Given the description of an element on the screen output the (x, y) to click on. 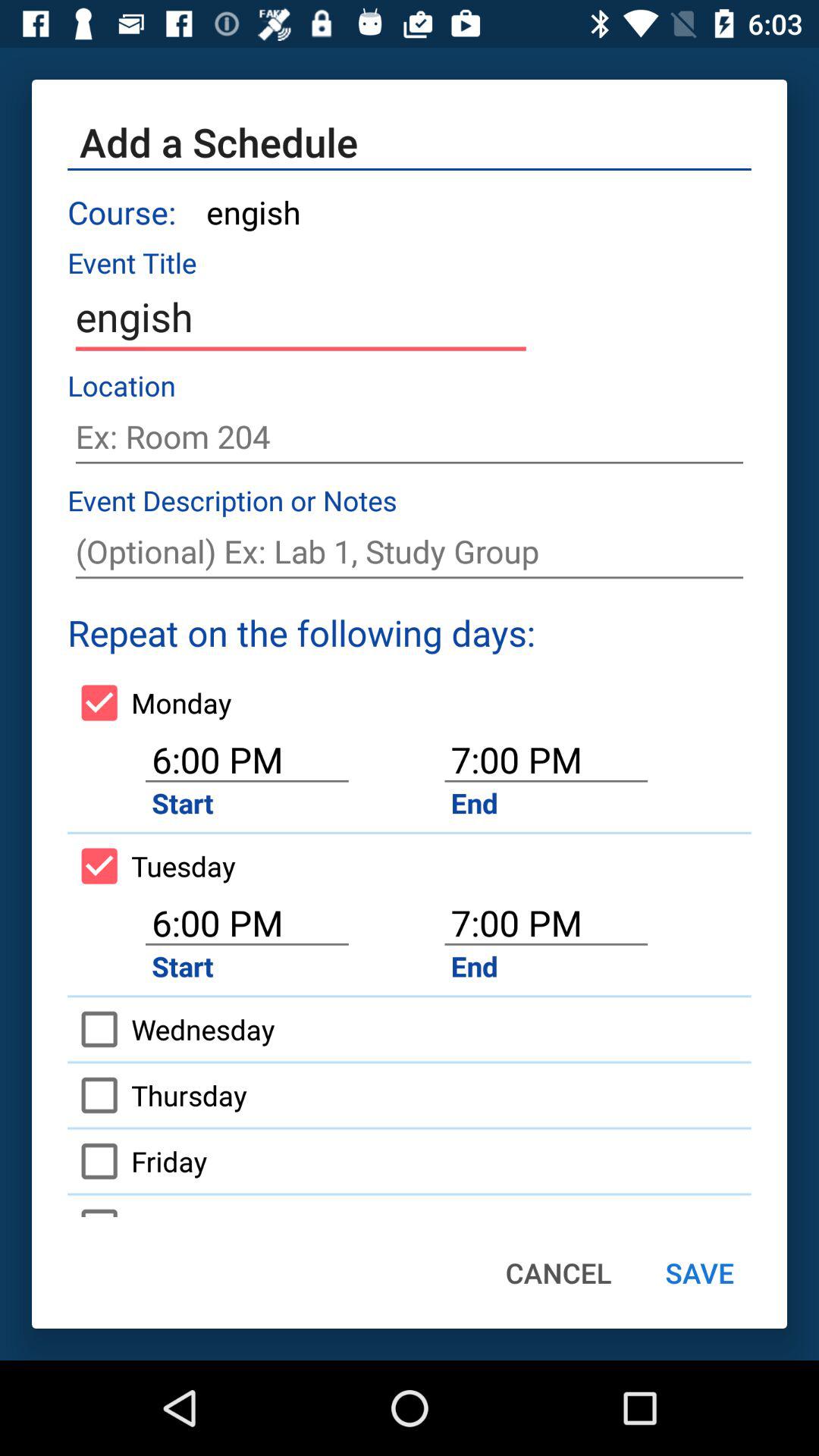
tap item below repeat on the item (149, 702)
